Given the description of an element on the screen output the (x, y) to click on. 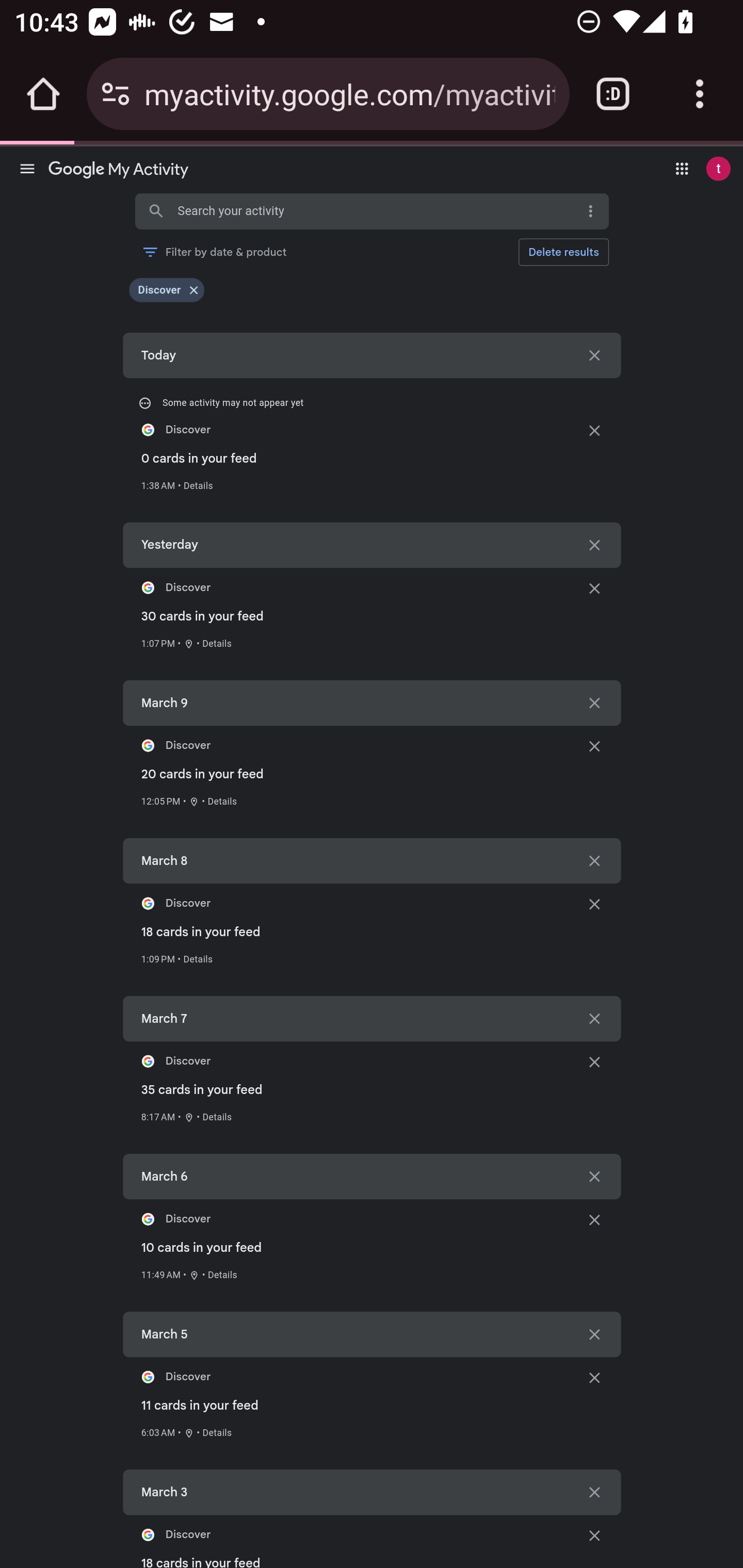
Open the home page (43, 93)
Connection is secure (115, 93)
Switch or close tabs (612, 93)
Customize and control Google Chrome (699, 93)
myactivity.google.com/myactivity?product=50 (349, 92)
Main menu (27, 168)
Google apps (681, 168)
My Activity (118, 170)
Search (155, 211)
More menu options (590, 211)
Filter by date & product (213, 251)
Delete (563, 251)
Discover (159, 289)
Delete all activity from Today. (593, 355)
Delete activity item 0 cards in your feed (593, 430)
Open details of activity "0 cards in your feed" (197, 484)
Delete all activity from Yesterday. (593, 544)
Delete activity item 30 cards in your feed (593, 587)
Open details of activity "30 cards in your feed" (216, 643)
Delete all activity from March 9. (593, 703)
Delete activity item 20 cards in your feed (593, 746)
Open details of activity "20 cards in your feed" (221, 799)
Delete all activity from March 8. (593, 860)
Delete activity item 18 cards in your feed (593, 902)
Open details of activity "18 cards in your feed" (197, 958)
Delete all activity from March 7. (593, 1018)
Delete activity item 35 cards in your feed (593, 1061)
Open details of activity "35 cards in your feed" (216, 1116)
Delete all activity from March 6. (593, 1175)
Delete activity item 10 cards in your feed (593, 1219)
Open details of activity "10 cards in your feed" (221, 1273)
Delete all activity from March 5. (593, 1334)
Delete activity item 11 cards in your feed (593, 1376)
Open details of activity "11 cards in your feed" (216, 1431)
Delete all activity from March 3. (593, 1492)
Delete activity item 18 cards in your feed (593, 1534)
